Given the description of an element on the screen output the (x, y) to click on. 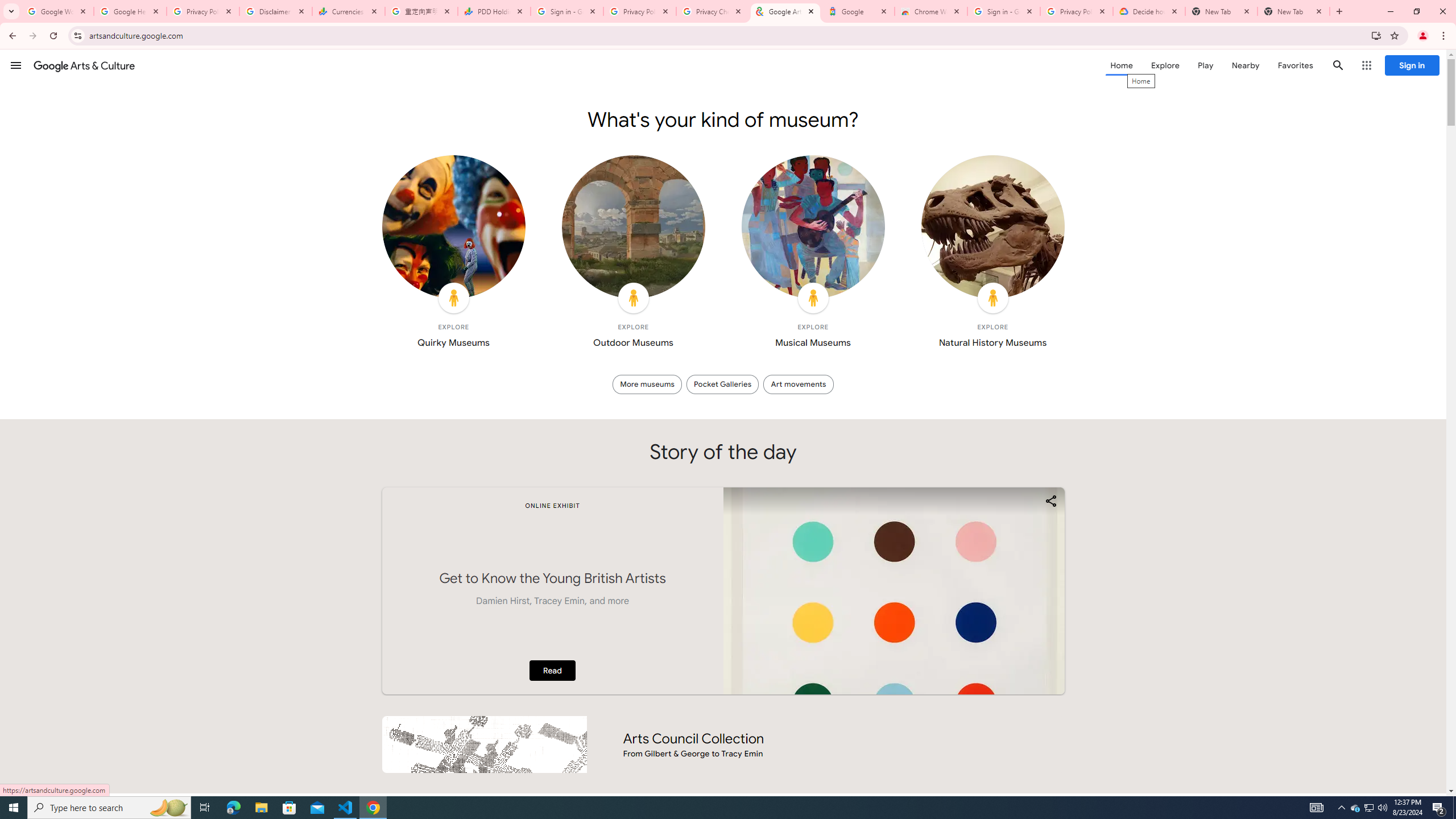
Currencies - Google Finance (348, 11)
EXPLORE Natural History Museums (992, 254)
EXPLORE Musical Museums (813, 254)
Art movements (798, 384)
